Given the description of an element on the screen output the (x, y) to click on. 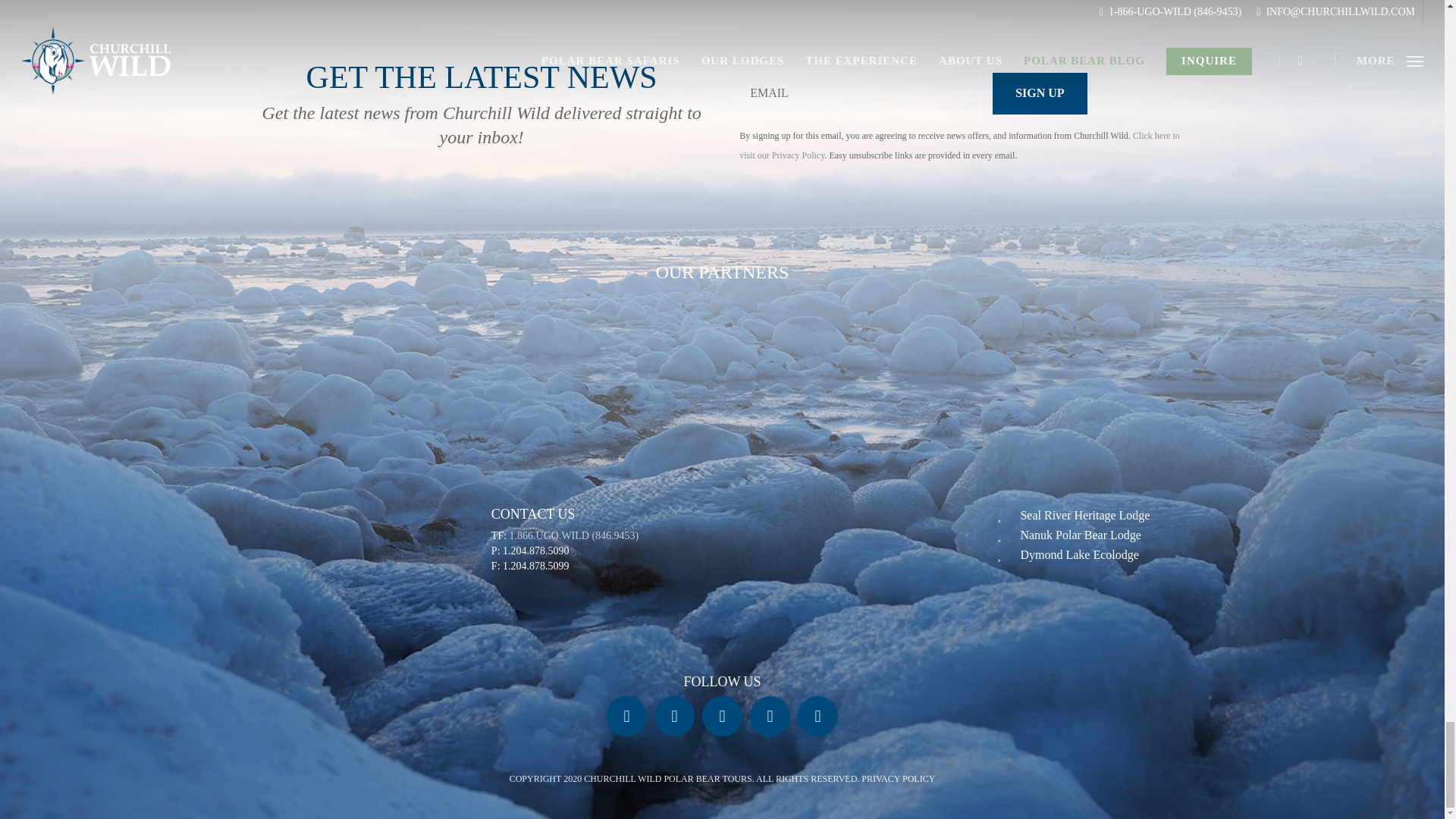
Sign Up (1039, 93)
